Given the description of an element on the screen output the (x, y) to click on. 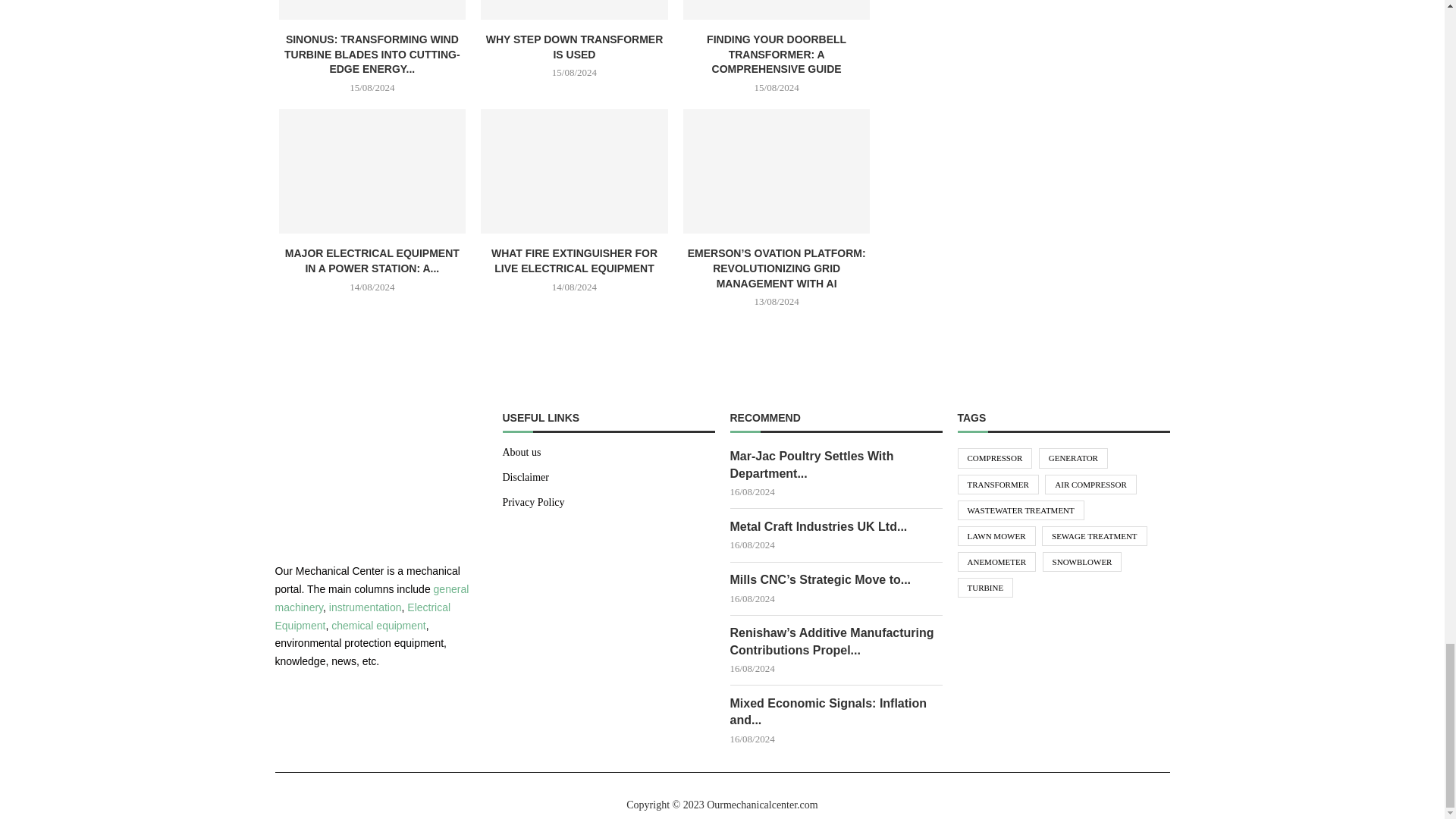
Finding Your Doorbell Transformer: A Comprehensive Guide (776, 9)
Why Step Down Transformer Is Used (574, 9)
What Fire Extinguisher For Live Electrical Equipment (574, 170)
